Given the description of an element on the screen output the (x, y) to click on. 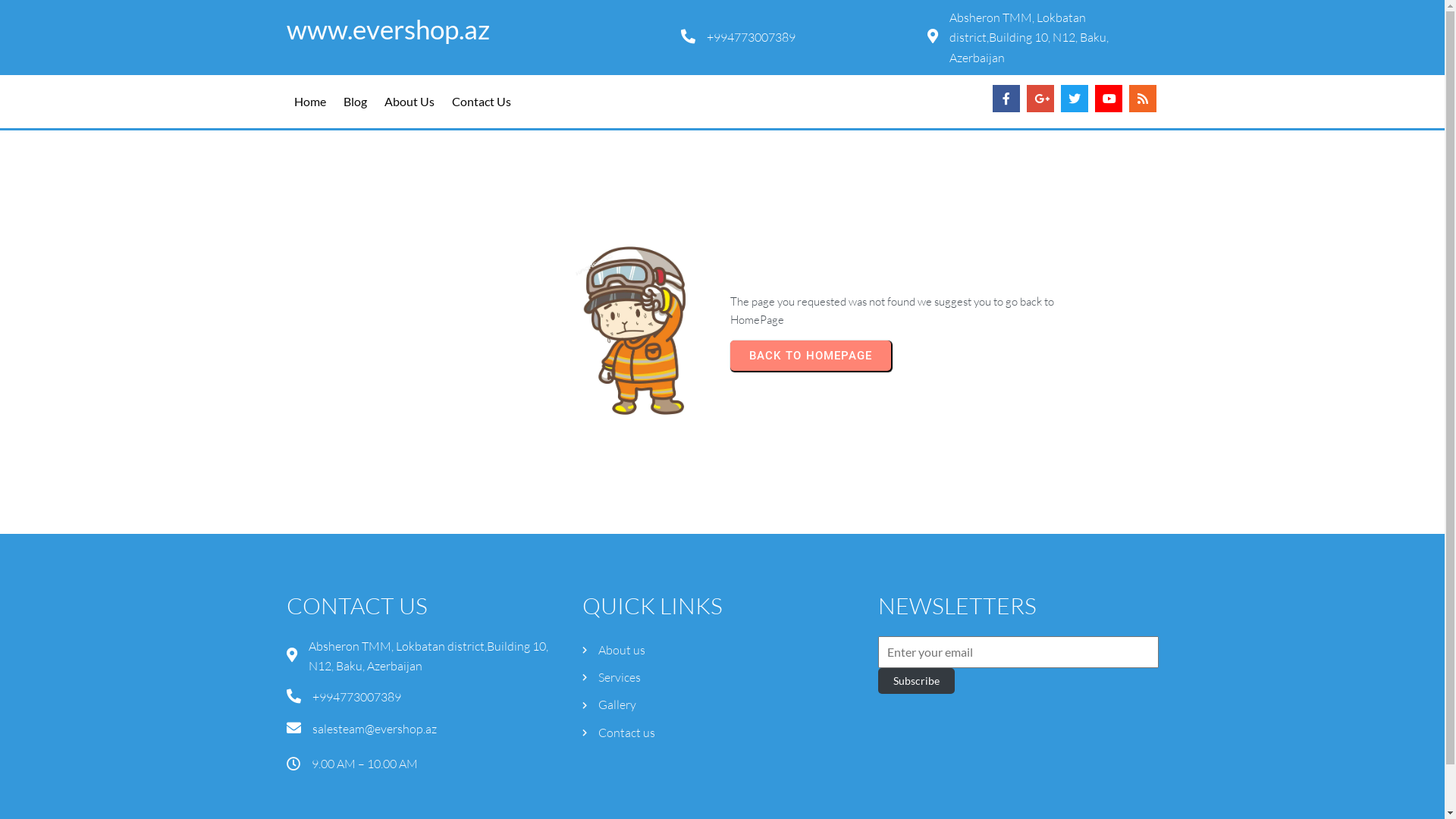
Contact Us Element type: text (481, 101)
Subscribe Element type: text (916, 680)
Home Element type: text (309, 101)
BACK TO HOMEPAGE Element type: text (809, 355)
Blog Element type: text (354, 101)
www.evershop.az Element type: text (475, 29)
About Us Element type: text (408, 101)
